Given the description of an element on the screen output the (x, y) to click on. 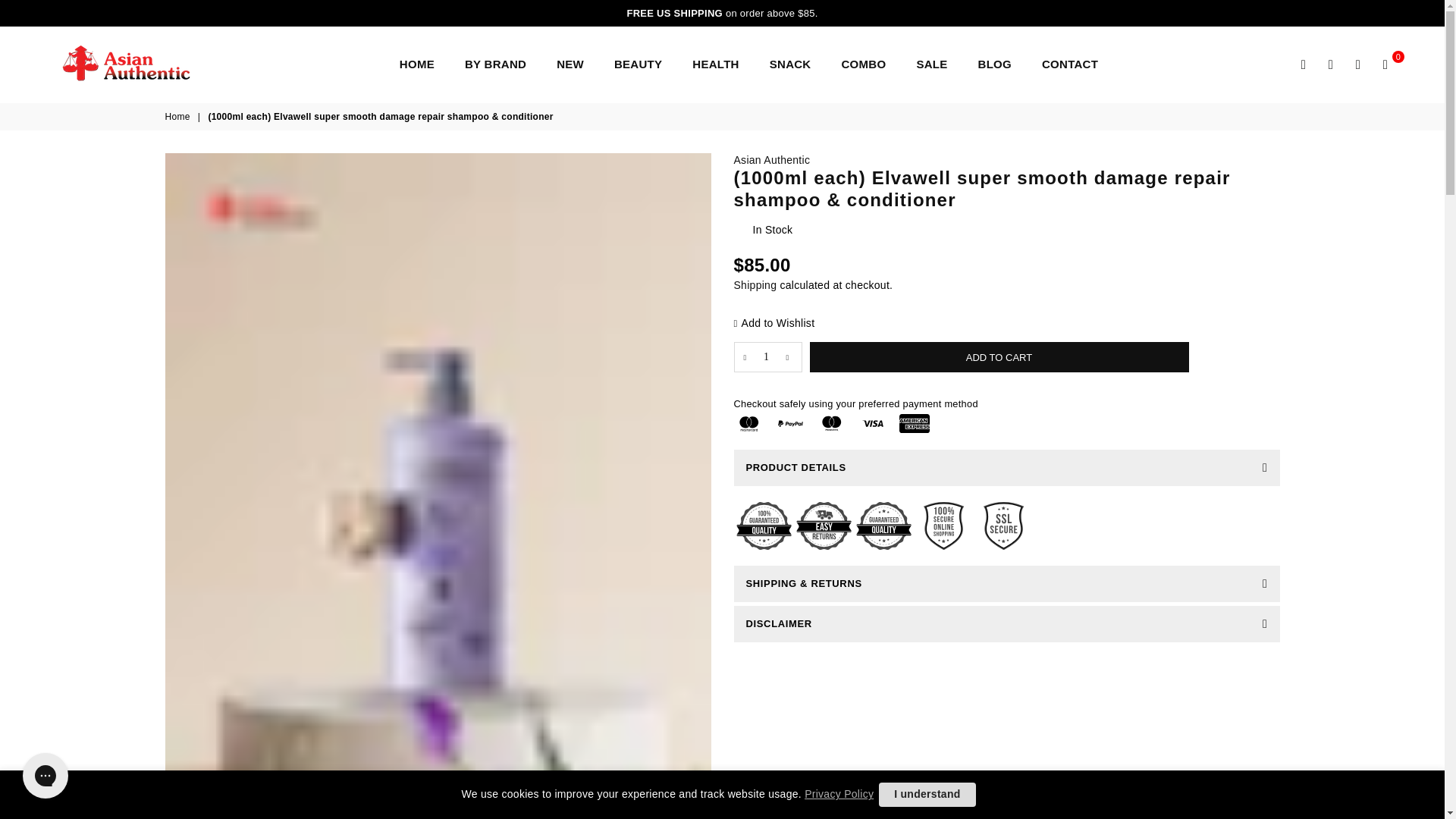
Quantity (767, 357)
Cart (1385, 64)
Search (1303, 64)
Wishlist (1357, 64)
ASIAN AUTHENTIC (139, 64)
Settings (1330, 64)
Asian Authentic (771, 159)
Back to the home page (178, 116)
BY BRAND (494, 64)
HOME (416, 64)
